Given the description of an element on the screen output the (x, y) to click on. 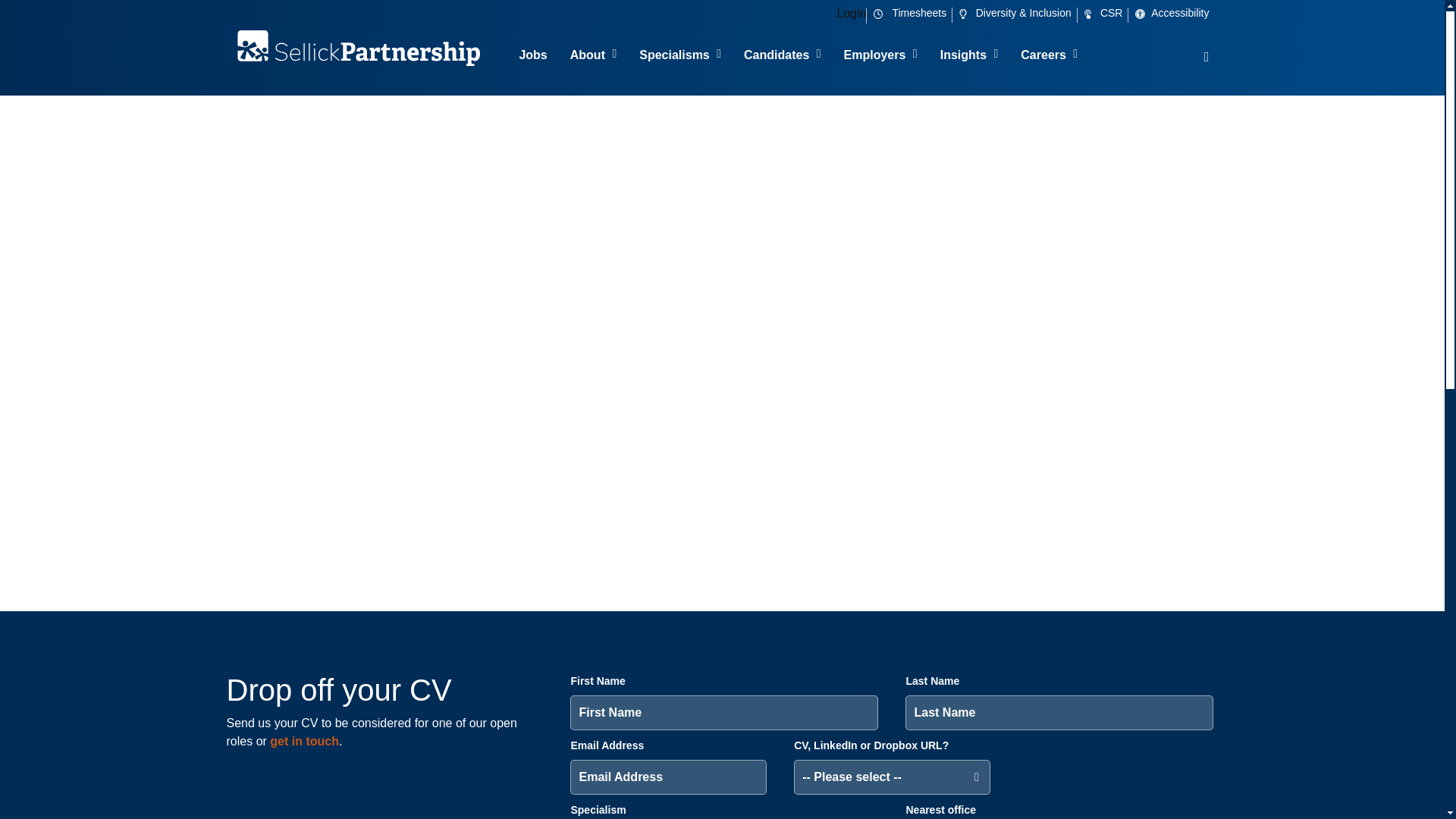
Timesheets (913, 12)
Accessibility (1171, 12)
About (593, 57)
Specialisms (679, 57)
Jobs (531, 57)
CSR (1106, 12)
